Given the description of an element on the screen output the (x, y) to click on. 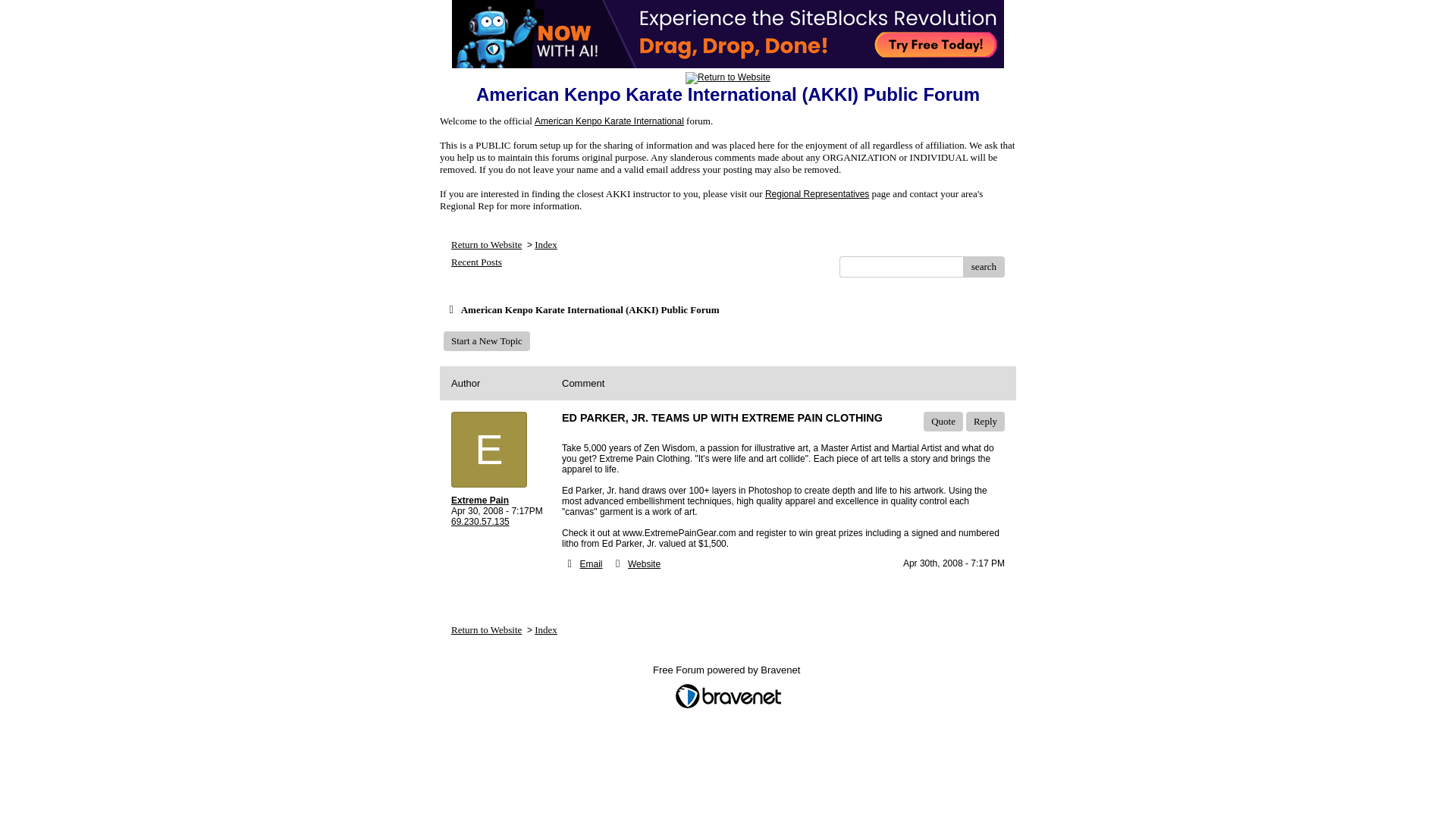
Lookup all posts from this IP Address (480, 521)
Free Forum powered by Bravenet  (727, 673)
Messages from this User (479, 500)
Index (545, 244)
Quote (942, 421)
69.230.57.135 (480, 521)
Return to Website (486, 629)
Index (545, 629)
American Kenpo Karate International (609, 121)
Recent Posts (476, 261)
Reply (985, 421)
Extreme Pain (500, 500)
Regional Representatives (817, 194)
Email (590, 563)
Start a New Topic (486, 341)
